Given the description of an element on the screen output the (x, y) to click on. 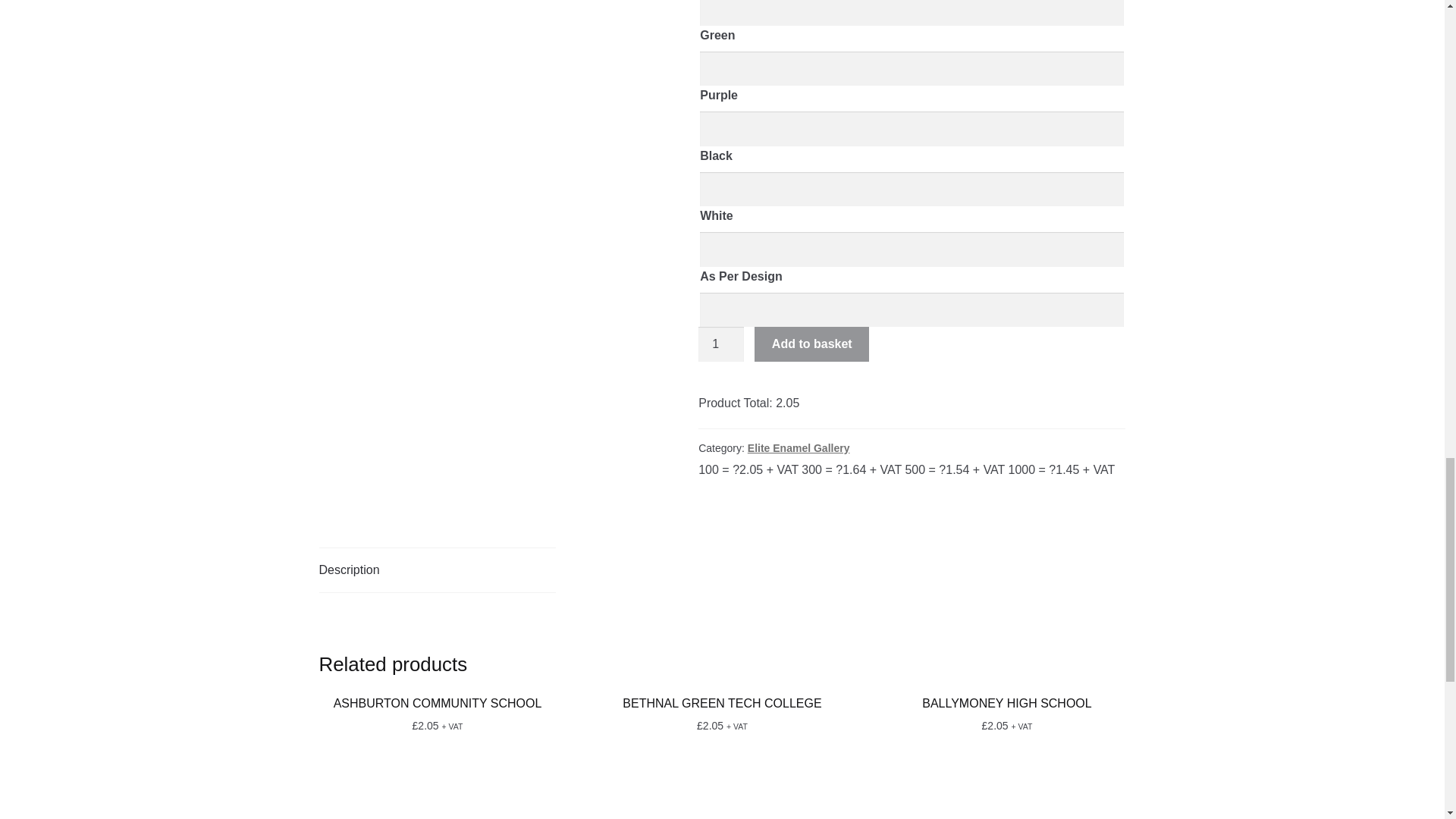
1 (721, 343)
